Given the description of an element on the screen output the (x, y) to click on. 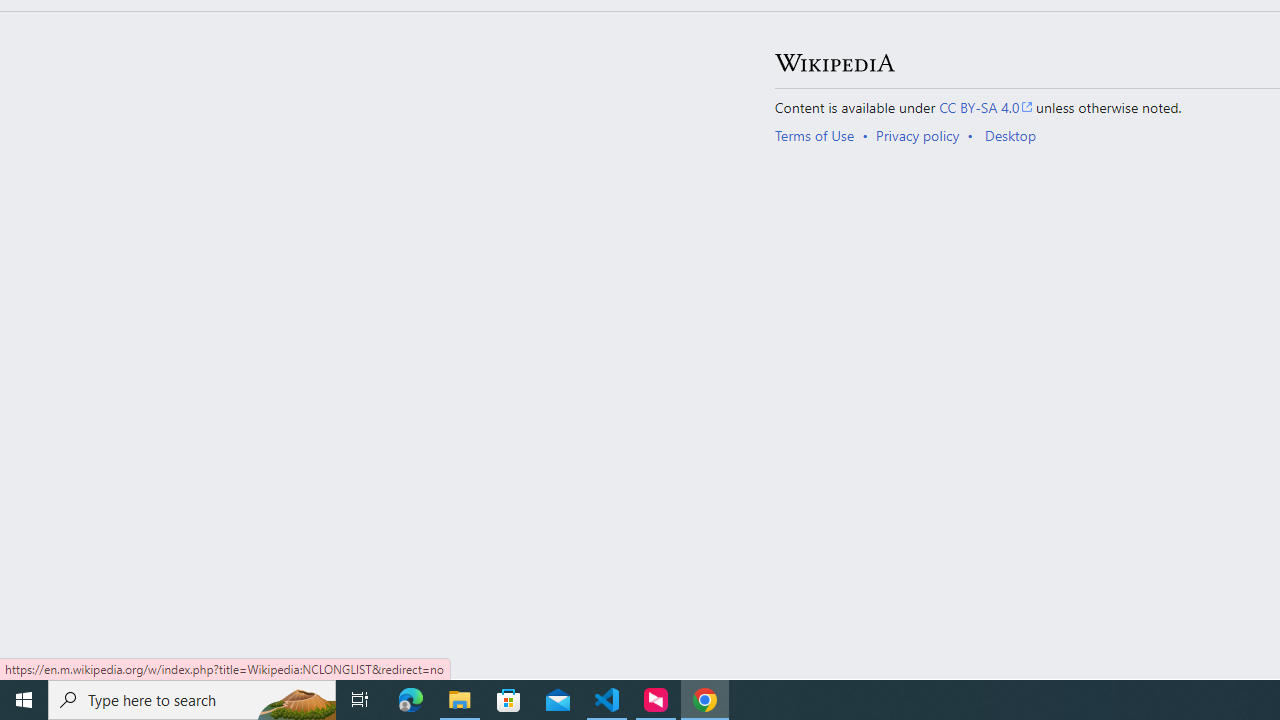
Wikipedia (834, 63)
Desktop (1010, 135)
AutomationID: footer-places-terms-use (820, 135)
CC BY-SA 4.0 (985, 106)
Terms of Use (814, 135)
Privacy policy (917, 135)
AutomationID: footer-places-privacy (923, 135)
AutomationID: footer-places-desktop-toggle (1014, 135)
